Given the description of an element on the screen output the (x, y) to click on. 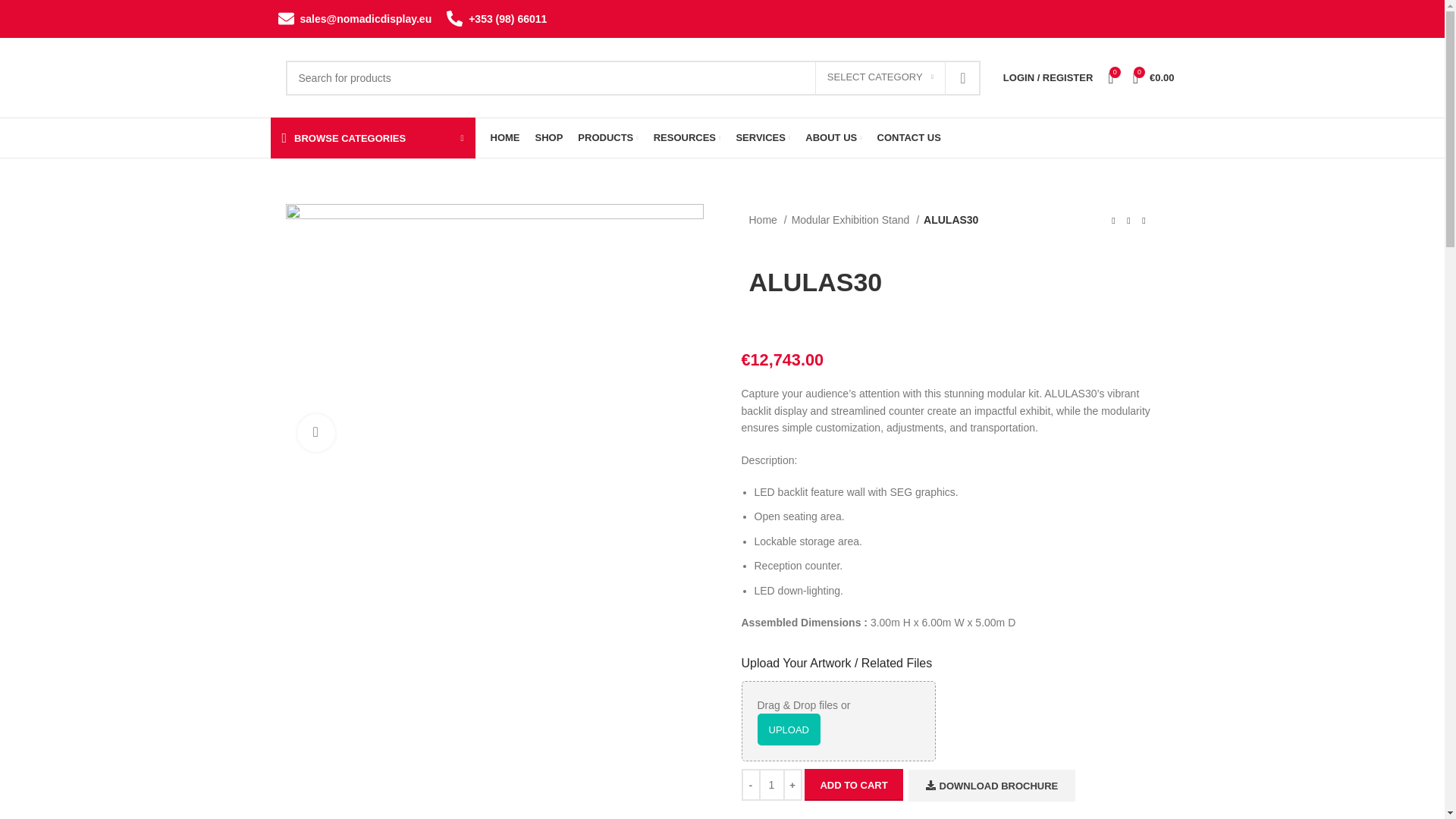
HOME (504, 137)
My Wishlist (1110, 77)
0 (1110, 77)
SHOP (549, 137)
Search for products (632, 77)
SEARCH (961, 77)
SELECT CATEGORY (879, 78)
- (750, 784)
My account (1047, 77)
1 (771, 784)
SELECT CATEGORY (879, 78)
PRODUCTS (607, 137)
SERVICES (762, 137)
alulas30-1.png (494, 333)
